Given the description of an element on the screen output the (x, y) to click on. 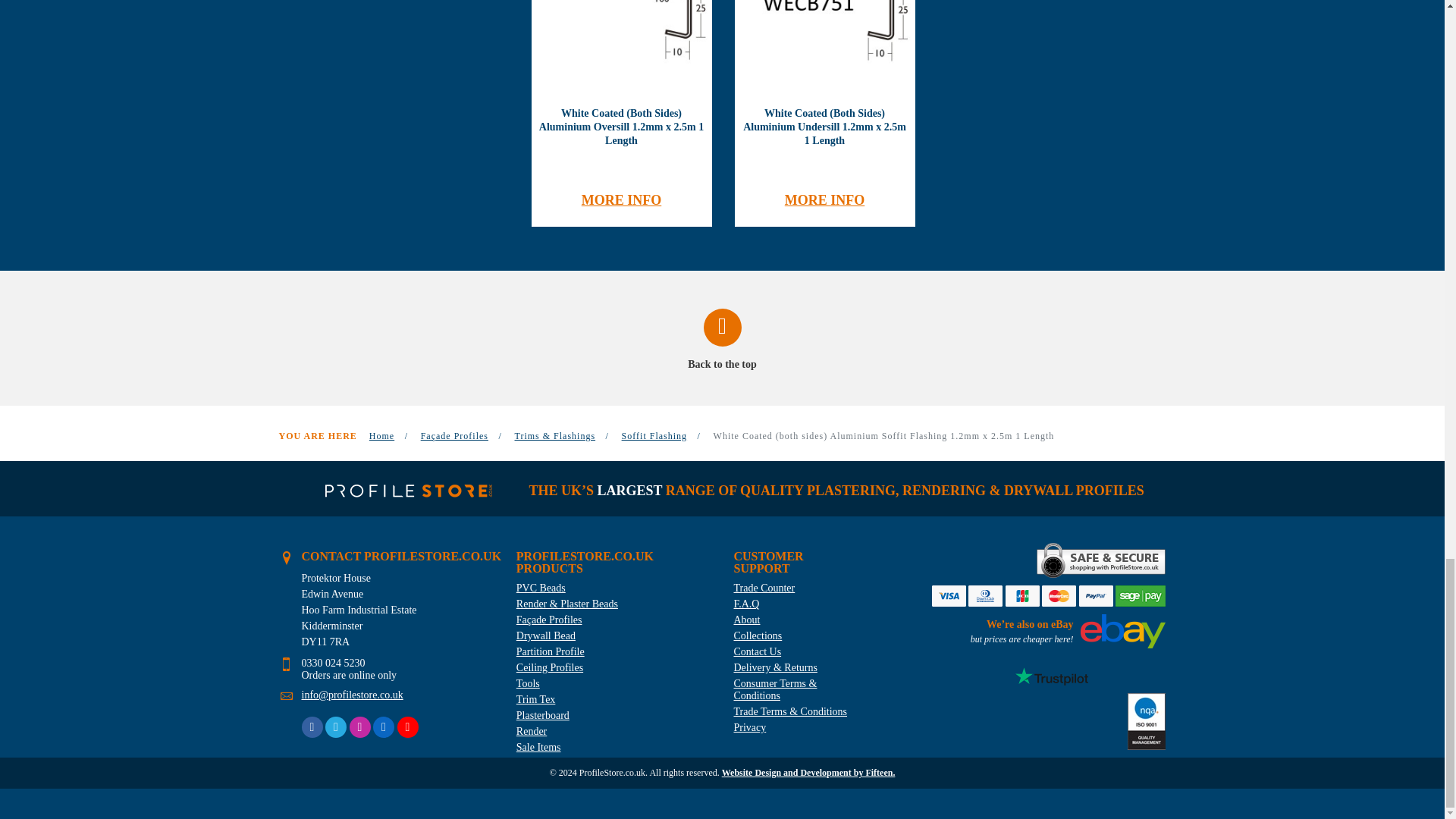
Back to the top (722, 339)
Customer reviews powered by Trustpilot (1051, 676)
